Given the description of an element on the screen output the (x, y) to click on. 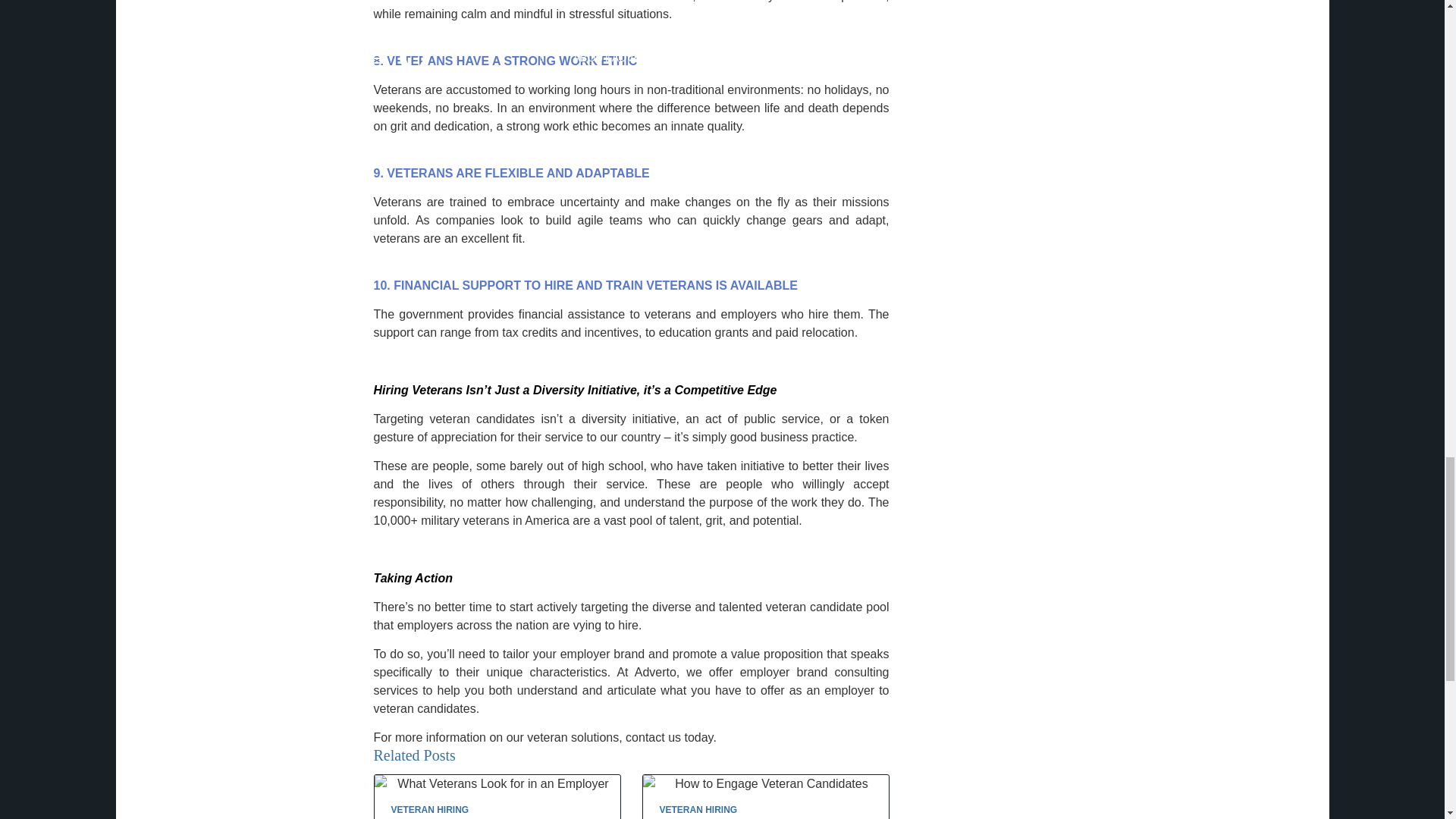
Privacy Policy (631, 126)
Manage my preferences (998, 107)
Accept and continue (996, 70)
Cookie Policy (530, 126)
